Given the description of an element on the screen output the (x, y) to click on. 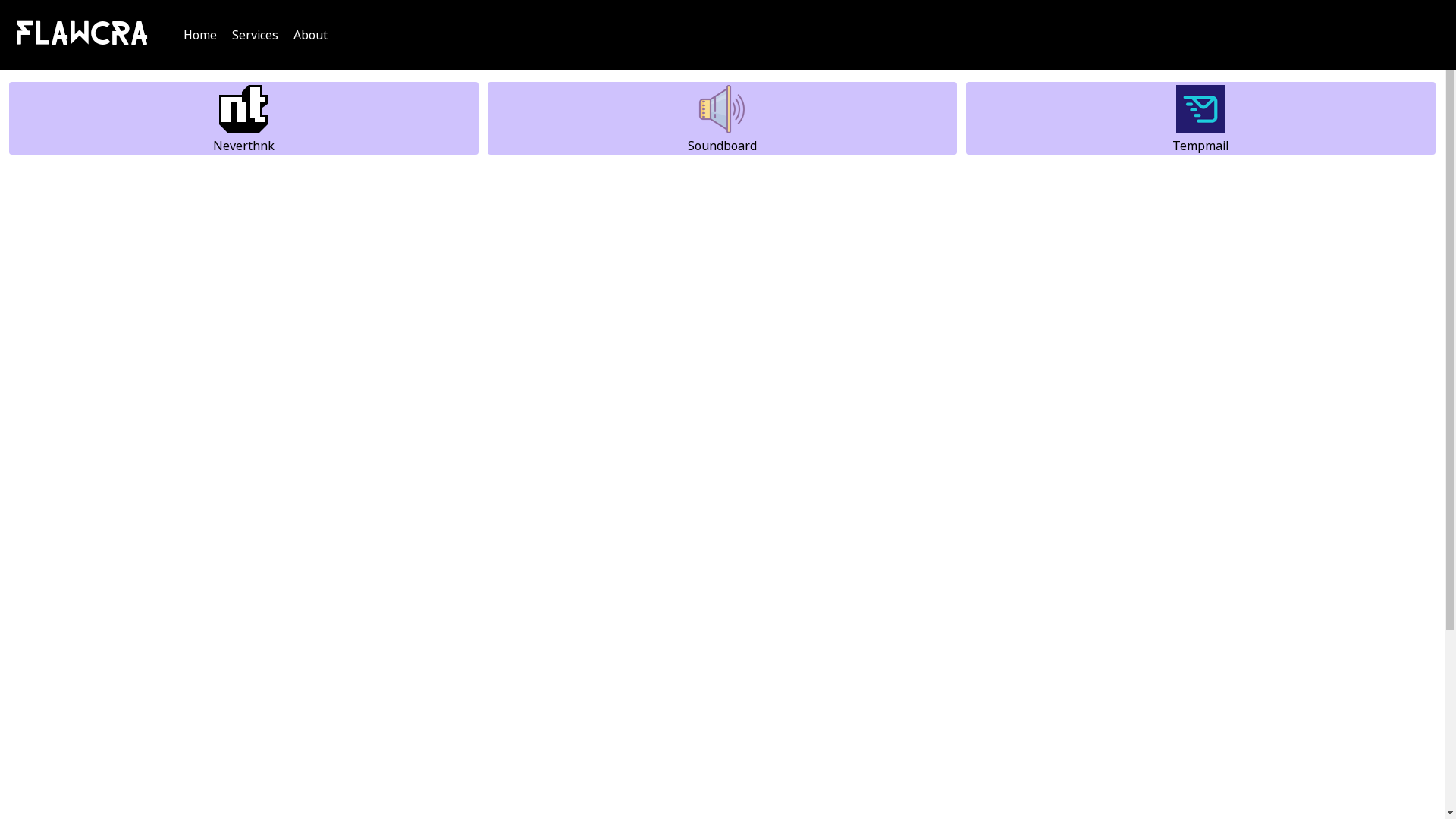
Neverthnk
Soundboard
Tempmail Element type: text (722, 118)
About Element type: text (310, 34)
Services Element type: text (255, 34)
Home Element type: text (199, 34)
FlawCra Element type: text (81, 34)
